Given the description of an element on the screen output the (x, y) to click on. 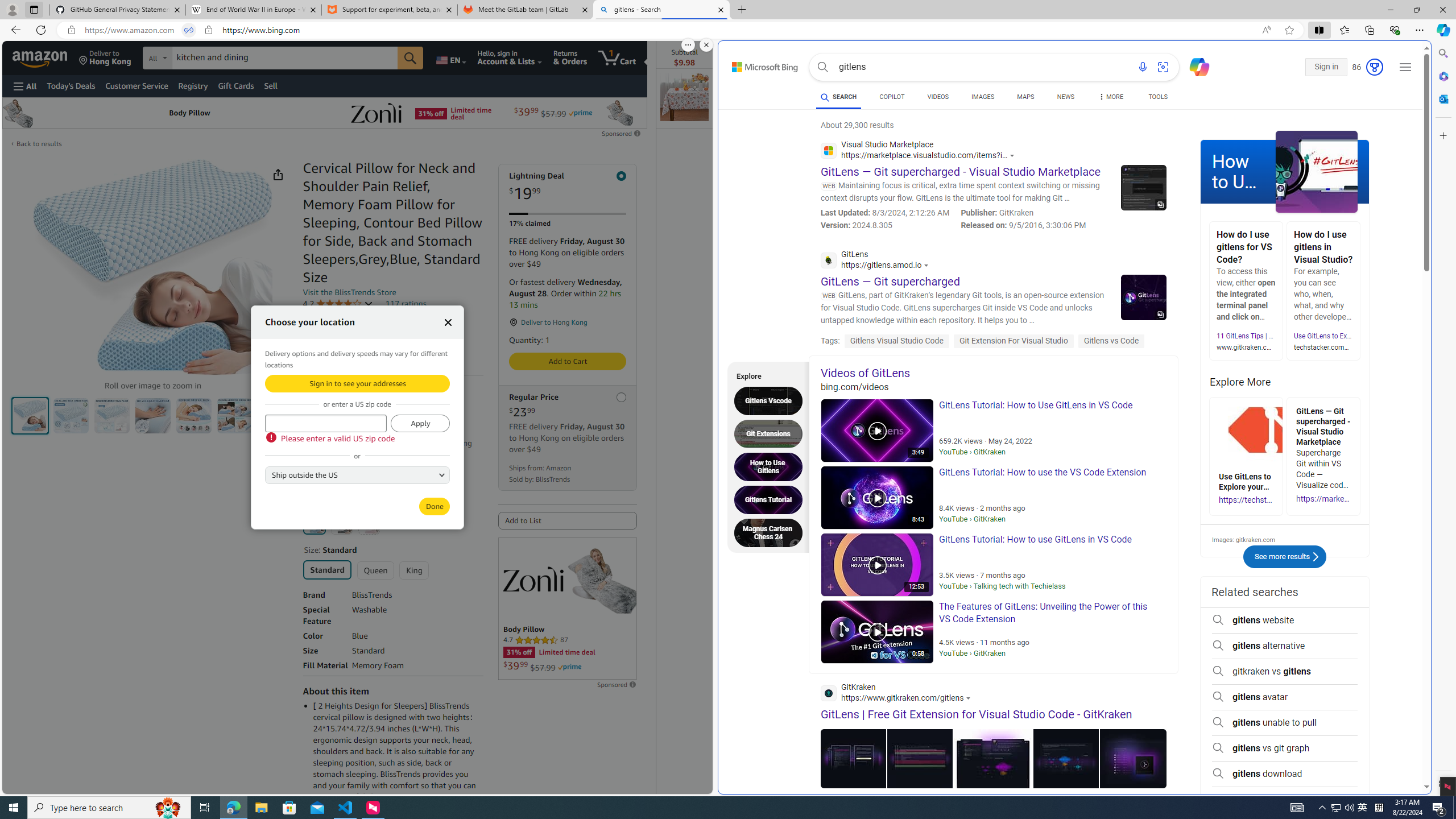
Microsoft Rewards  (1367, 67)
MAPS (1025, 98)
Actions for this site (969, 698)
Back to results (39, 144)
AutomationID: rh_meter (1374, 66)
GitLens (877, 261)
More options. (687, 45)
GitLens Tutorial: How to Use GitLens in VS Code (877, 430)
MAPS (1025, 96)
